Given the description of an element on the screen output the (x, y) to click on. 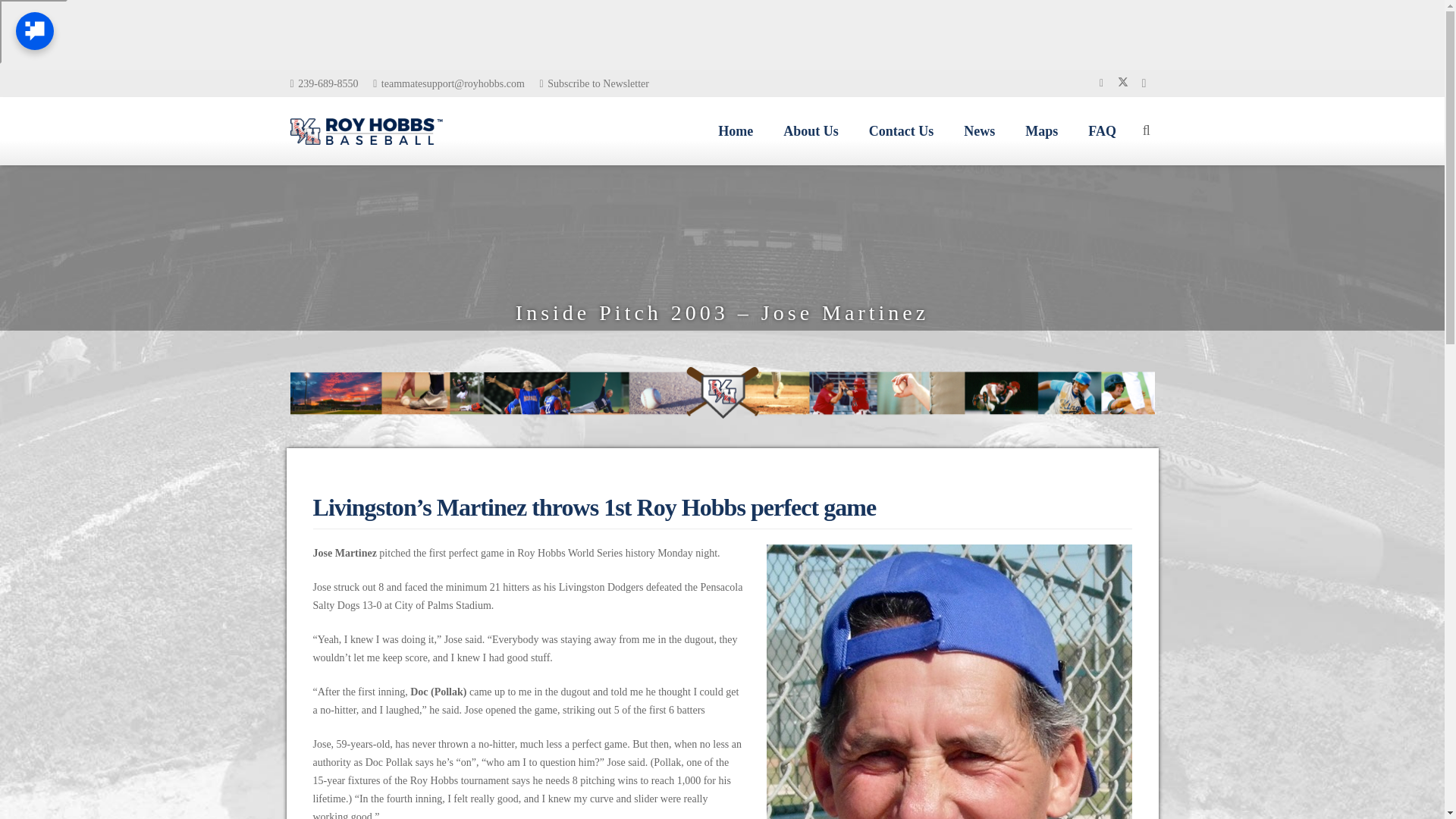
Subscribe to Newsletter (592, 82)
239-689-8550 (323, 82)
News (979, 131)
About Us (810, 131)
Twitter (1123, 83)
Home (735, 131)
Maps (1041, 131)
Instagram (1144, 83)
Contact Us (901, 131)
Facebook (1101, 83)
